Given the description of an element on the screen output the (x, y) to click on. 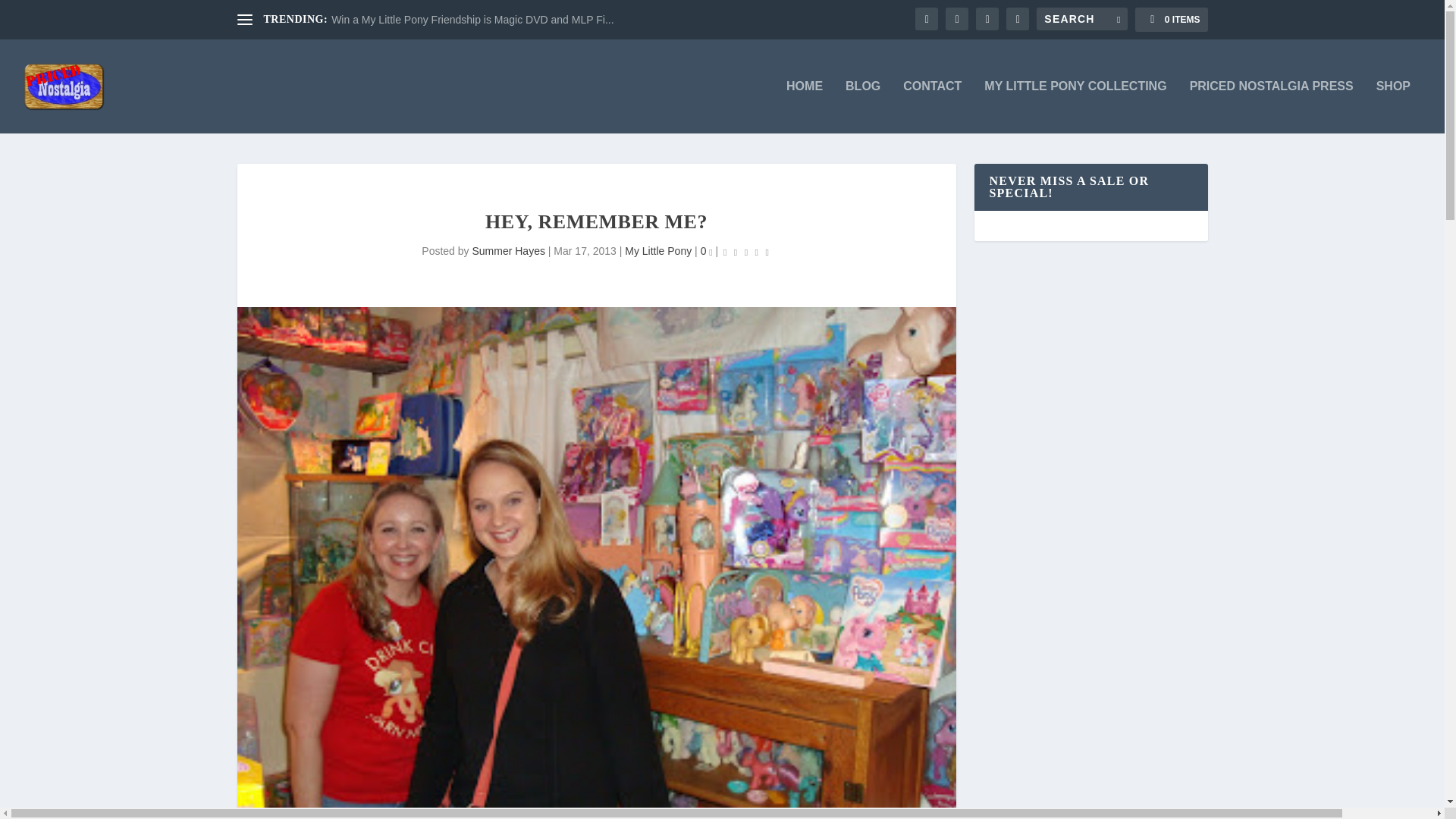
MY LITTLE PONY COLLECTING (1075, 106)
Summer Hayes (507, 250)
0 (706, 250)
Posts by Summer Hayes (507, 250)
My Little Pony (657, 250)
Search for: (1081, 18)
0 ITEMS (1171, 19)
Win a My Little Pony Friendship is Magic DVD and MLP Fi... (471, 19)
CONTACT (931, 106)
Rating: 0.00 (745, 251)
